Given the description of an element on the screen output the (x, y) to click on. 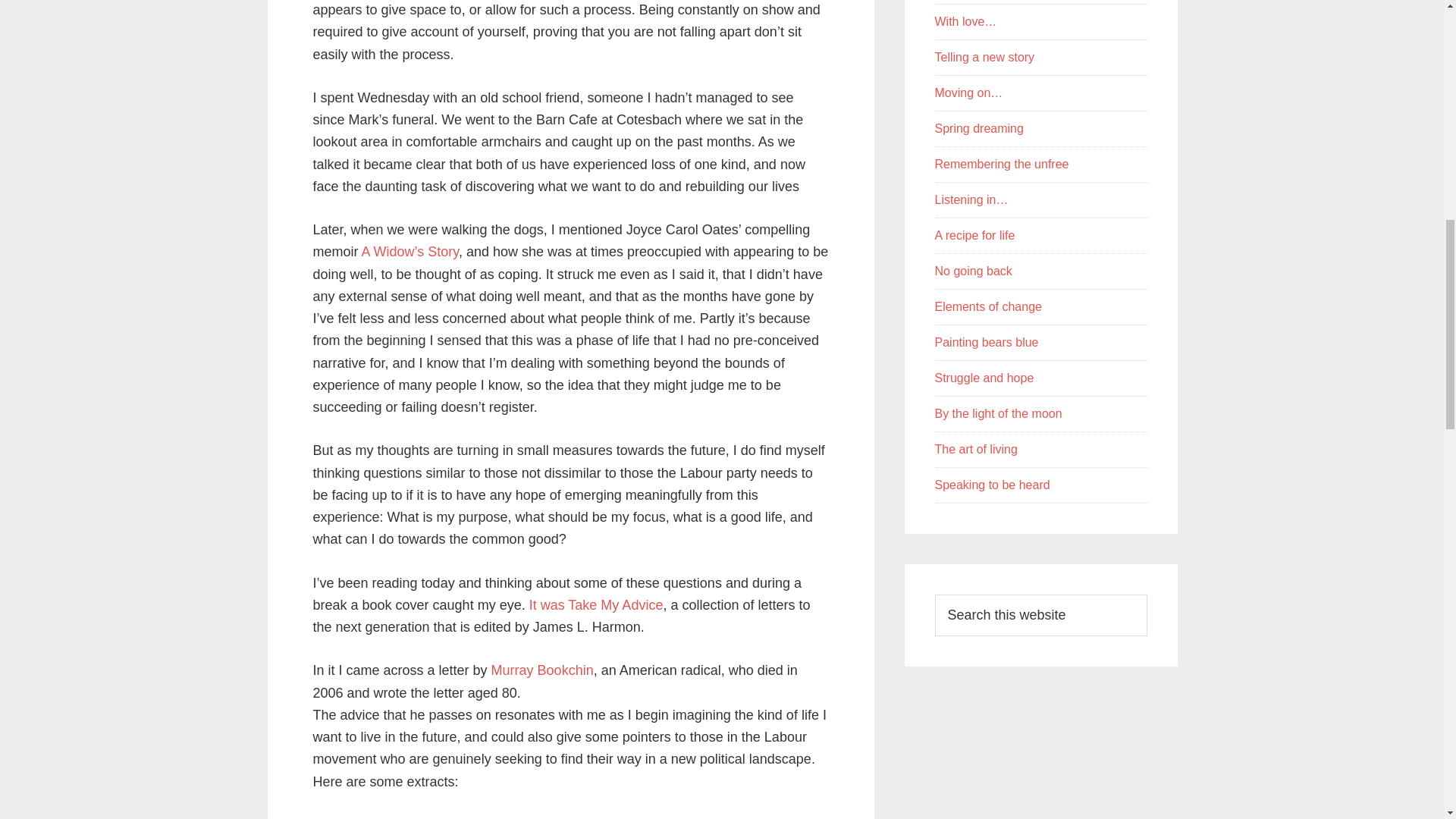
Telling a new story (983, 56)
Spring dreaming (978, 128)
Murray Bookchin (543, 670)
Remembering the unfree (1001, 164)
It was Take My Advice (596, 604)
